Given the description of an element on the screen output the (x, y) to click on. 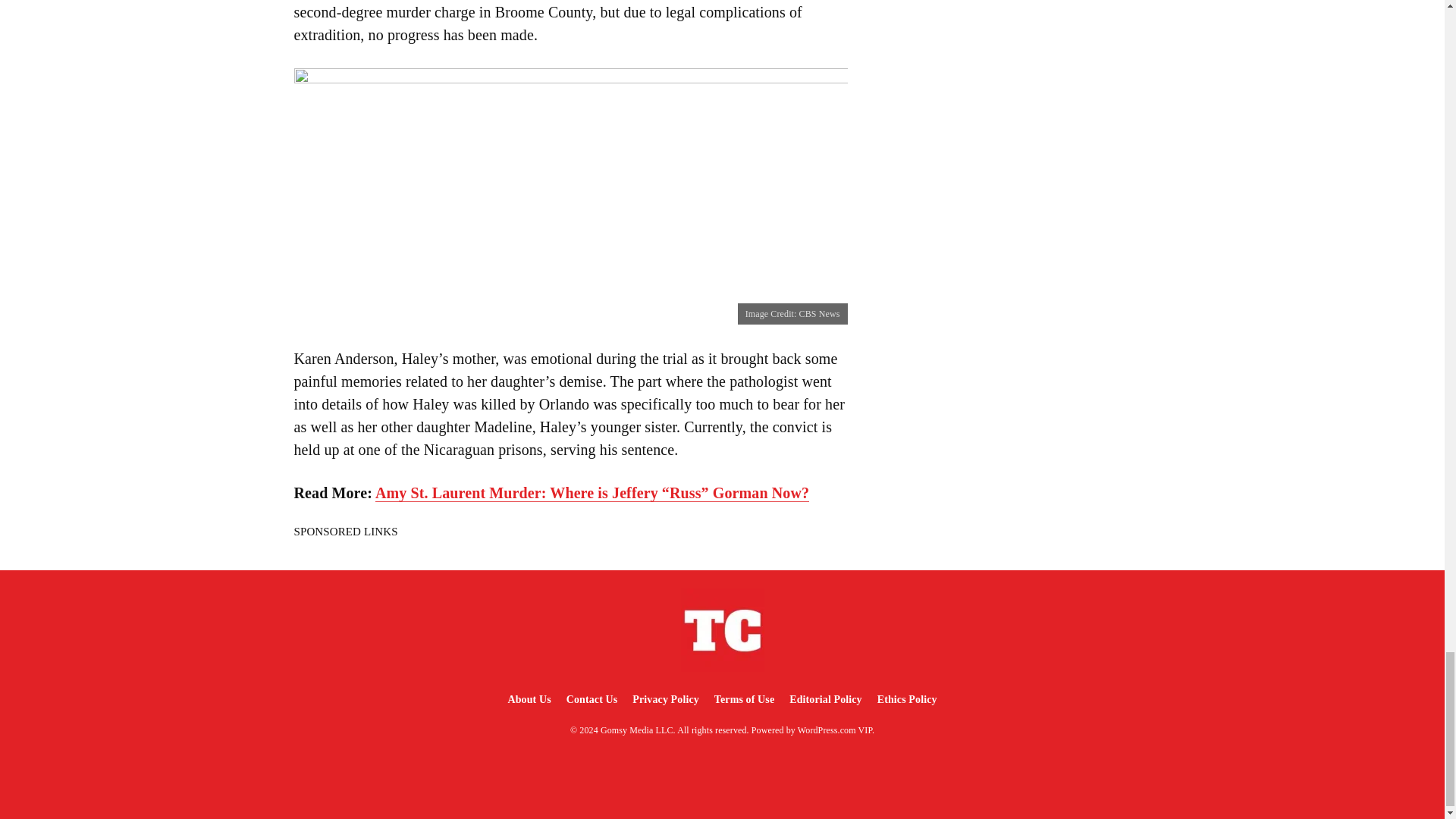
About Us (528, 699)
Terms of Use (743, 699)
Privacy Policy (665, 699)
Ethics Policy (906, 699)
Contact Us (592, 699)
Editorial Policy (825, 699)
WordPress.com VIP (834, 729)
